Given the description of an element on the screen output the (x, y) to click on. 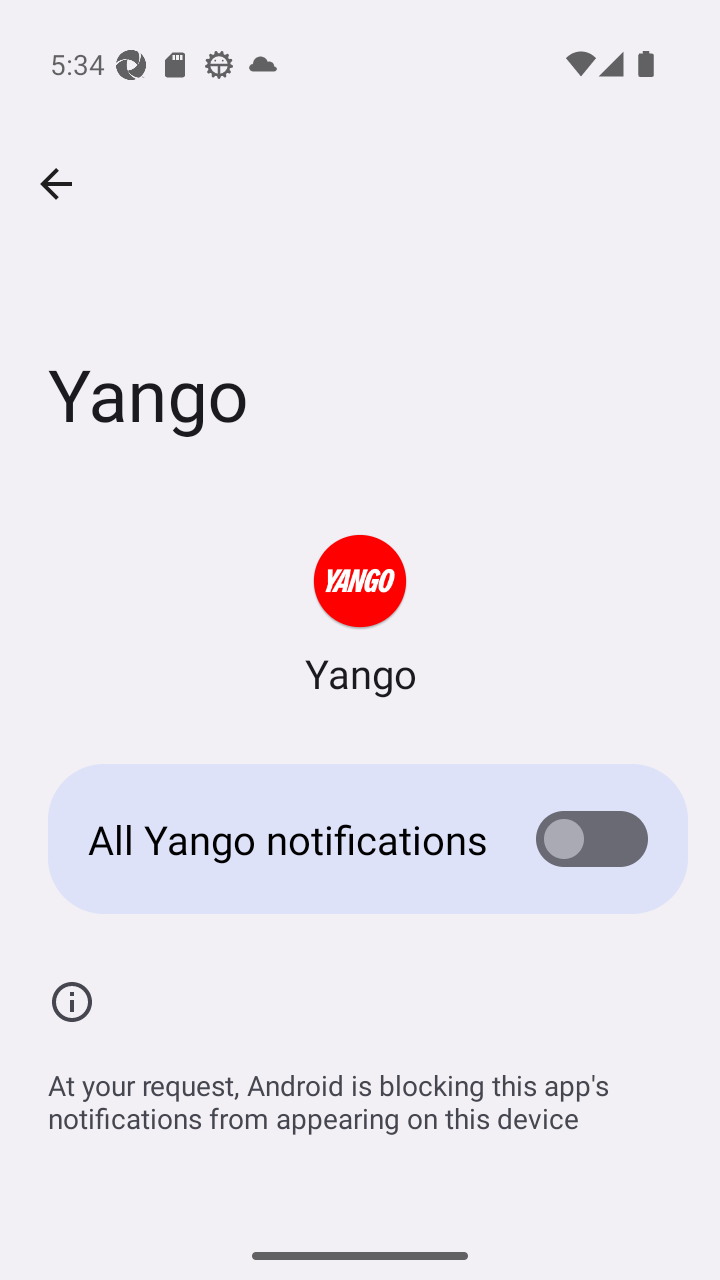
Navigate up (56, 184)
Yango (359, 616)
All Yango notifications (360, 838)
